Given the description of an element on the screen output the (x, y) to click on. 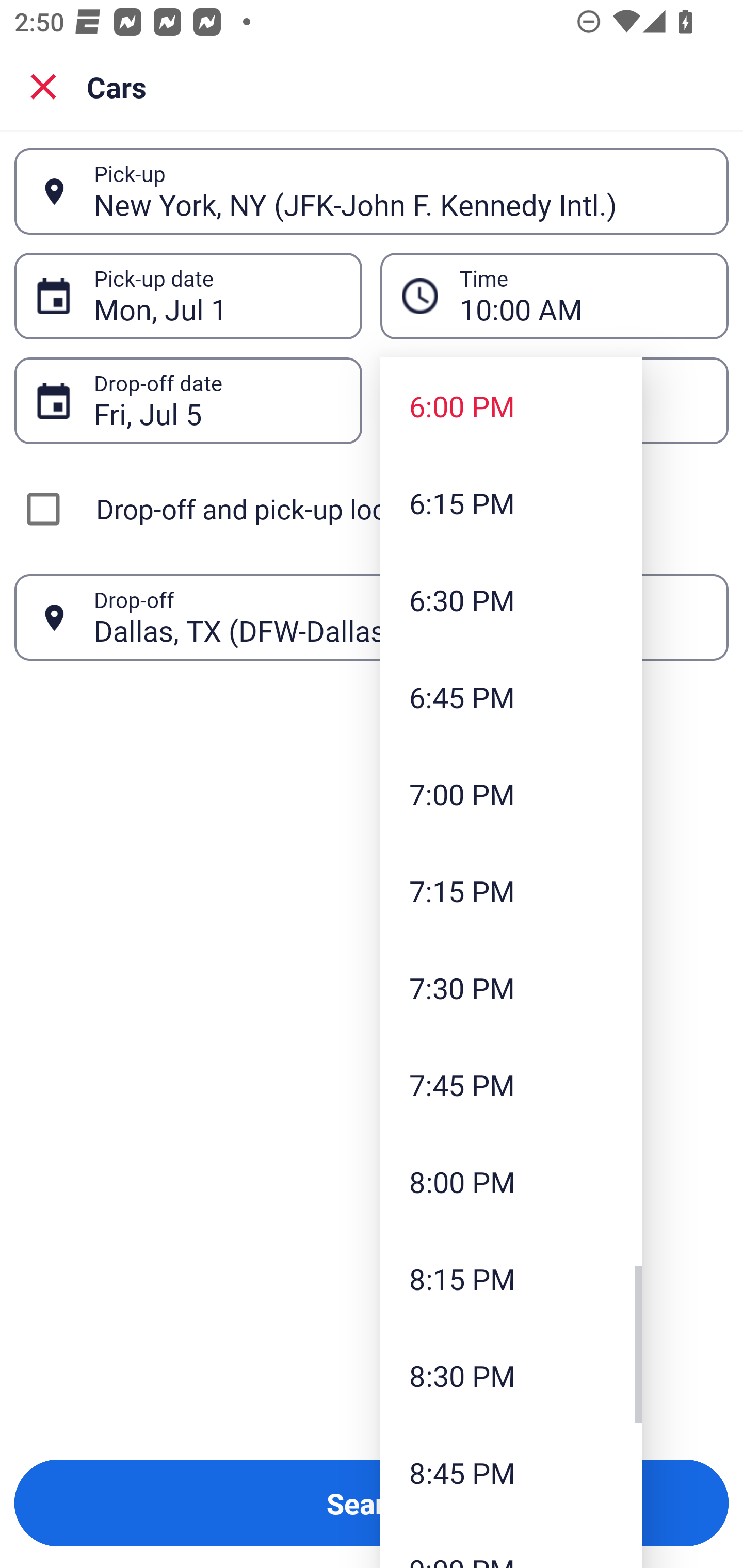
6:00 PM (510, 405)
6:15 PM (510, 502)
6:30 PM (510, 599)
6:45 PM (510, 695)
7:00 PM (510, 793)
7:15 PM (510, 890)
7:30 PM (510, 987)
7:45 PM (510, 1084)
8:00 PM (510, 1181)
8:15 PM (510, 1278)
8:30 PM (510, 1374)
8:45 PM (510, 1471)
